Given the description of an element on the screen output the (x, y) to click on. 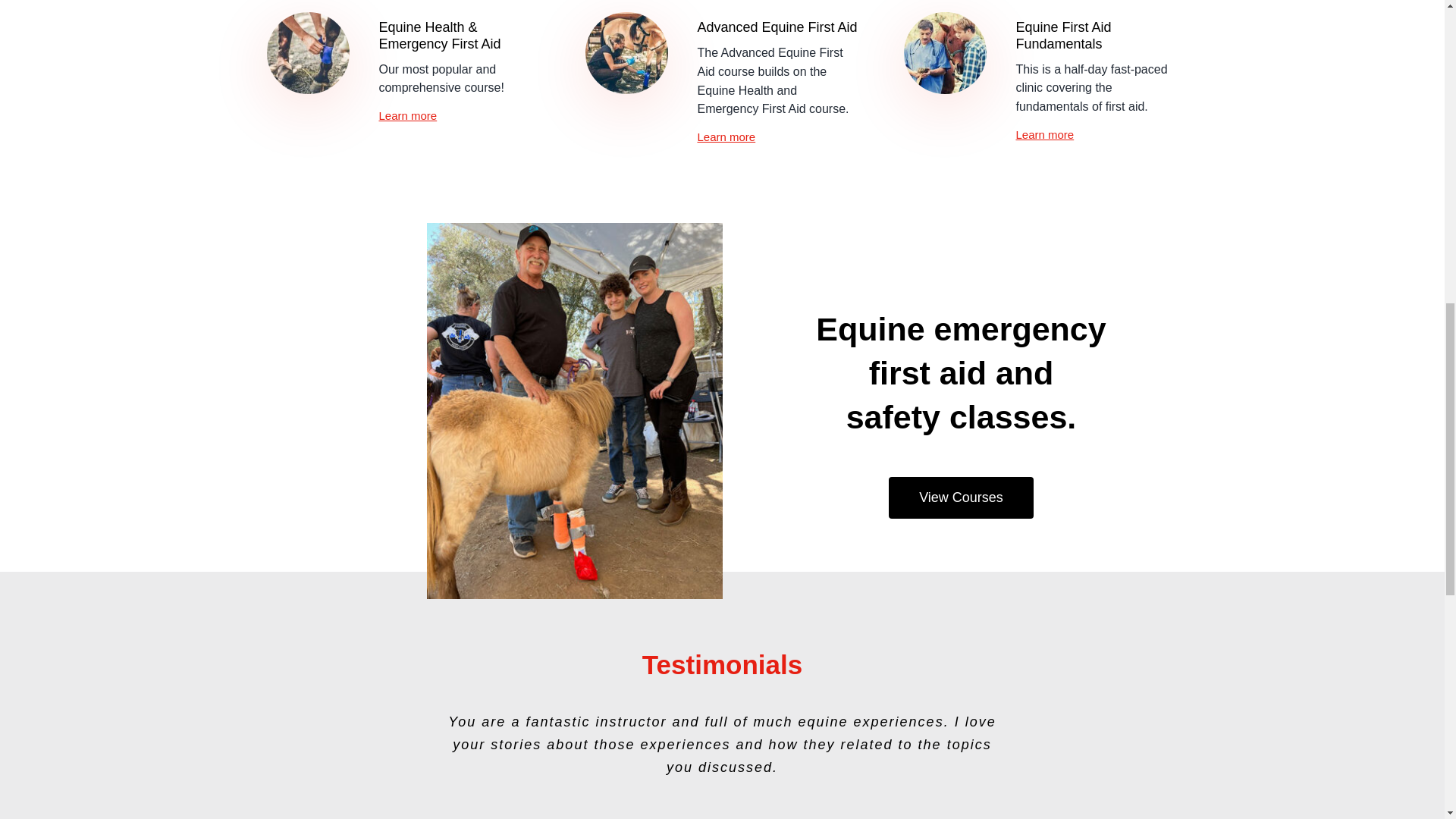
Learn more (407, 115)
Learn more (726, 136)
View Courses (960, 497)
Learn more (1044, 133)
